Given the description of an element on the screen output the (x, y) to click on. 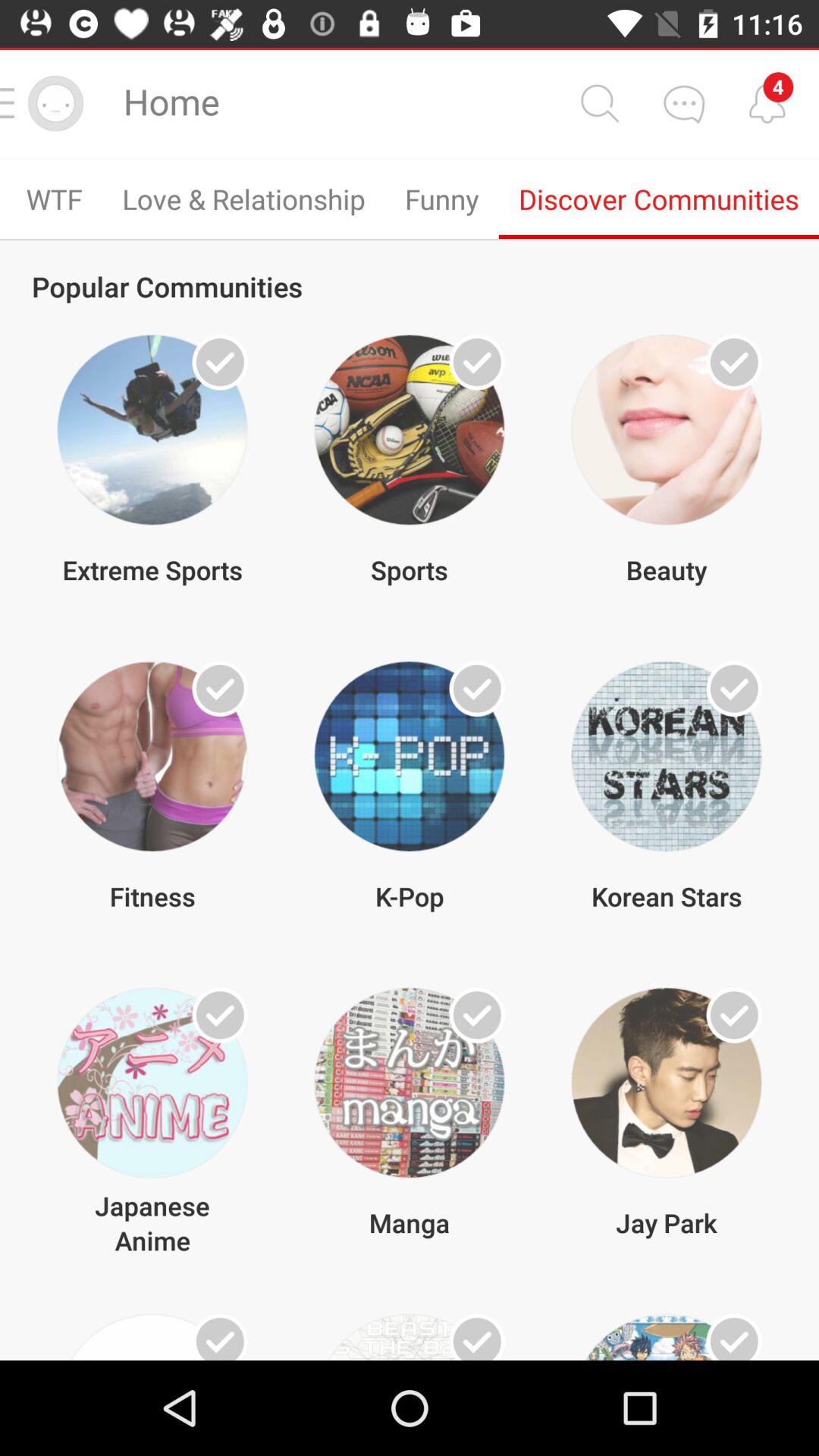
chat button (683, 103)
